Given the description of an element on the screen output the (x, y) to click on. 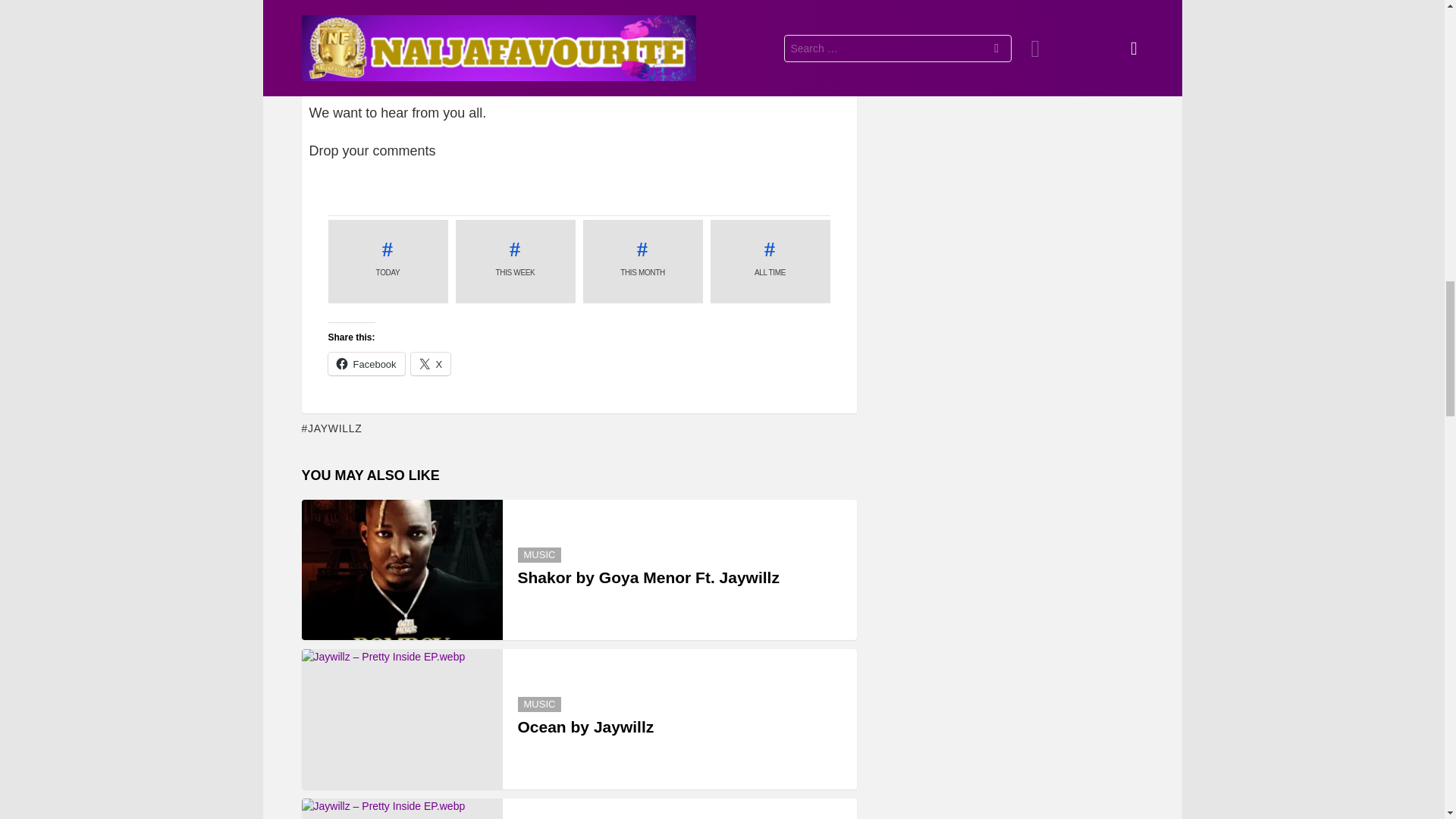
Click to share on X (430, 363)
Shakor by Goya Menor Ft. Jaywillz (401, 569)
DOWNLOAD MP3 (578, 38)
Good Life by Jaywillz (401, 808)
Click to share on Facebook (365, 363)
Ocean by Jaywillz (401, 719)
